Given the description of an element on the screen output the (x, y) to click on. 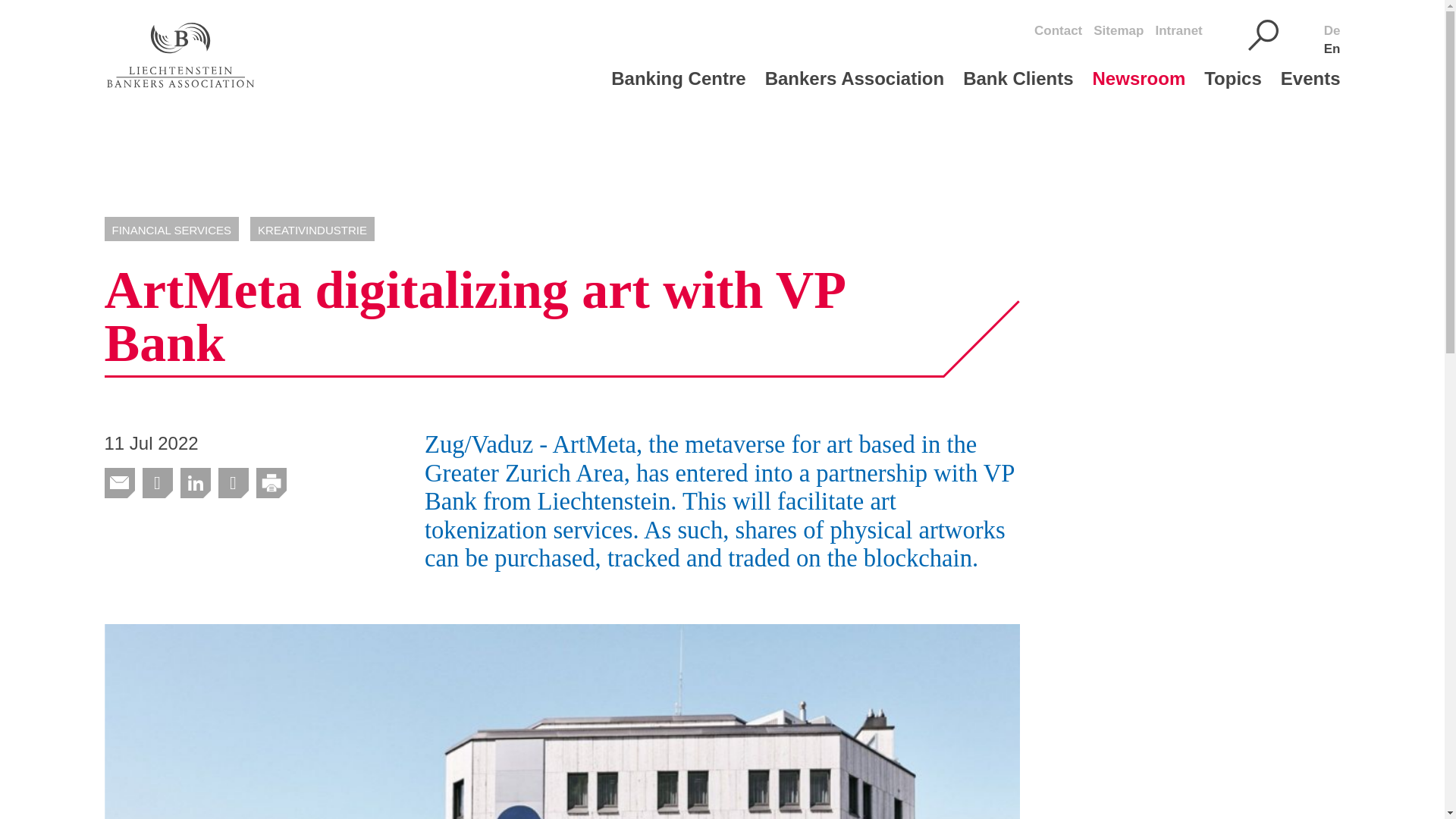
Intranet (1178, 30)
Topics (1242, 88)
Sitemap (1117, 30)
Twitter (157, 483)
Newsroom (1149, 88)
German (1331, 30)
Contact (1057, 30)
Facebook (232, 483)
De (1331, 30)
Banking Centre (687, 88)
En (1331, 48)
Bank Clients (1027, 88)
English (1331, 48)
Bankers Association (864, 88)
